Given the description of an element on the screen output the (x, y) to click on. 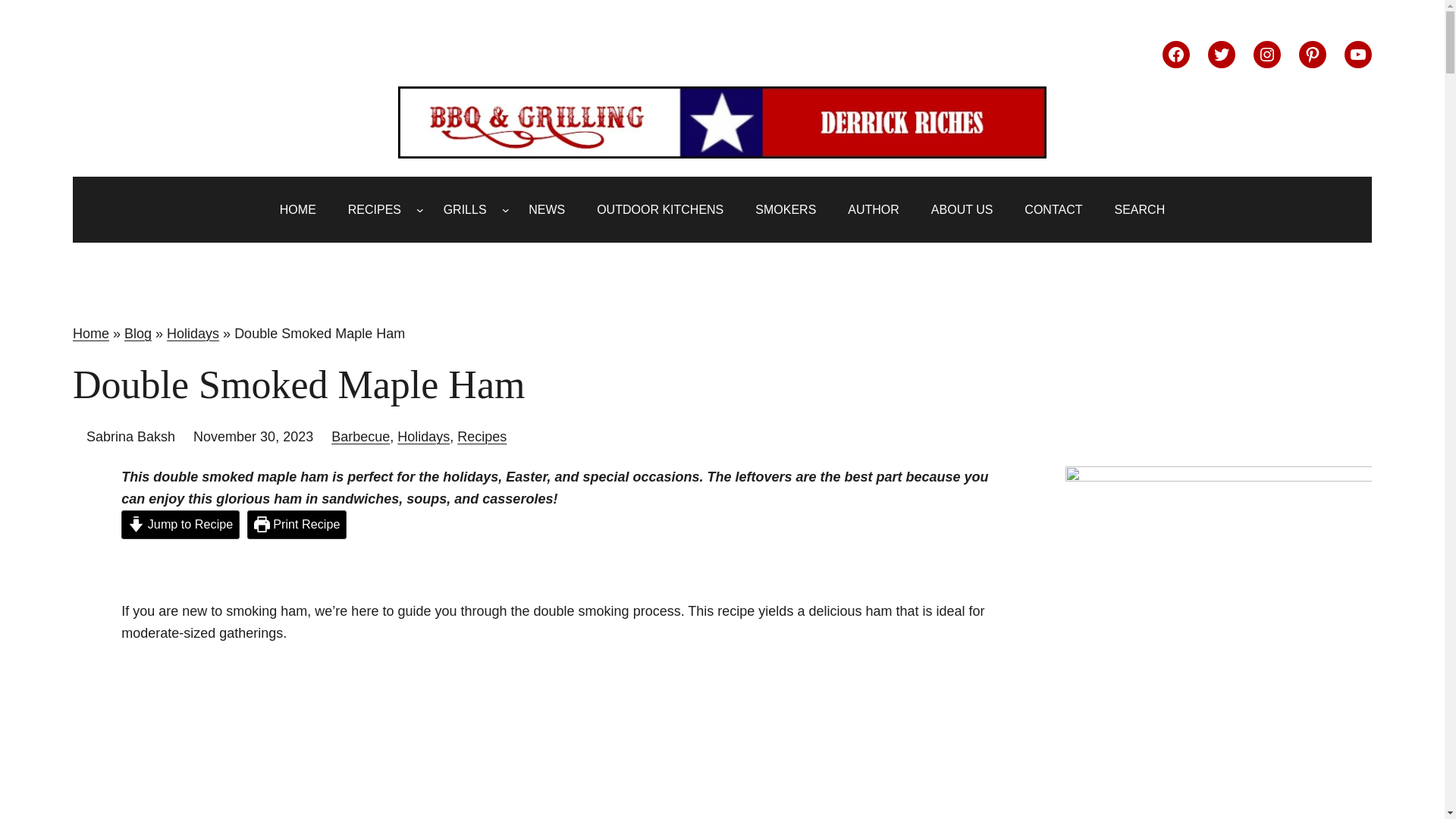
Holidays (193, 333)
Barbecue (360, 436)
GRILLS (464, 210)
SEARCH (1139, 210)
CONTACT (1052, 210)
RECIPES (374, 210)
NEWS (546, 210)
SMOKERS (785, 210)
OUTDOOR KITCHENS (660, 210)
ABOUT US (962, 210)
AUTHOR (873, 210)
Instagram (1267, 53)
YouTube (1357, 53)
Twitter (1221, 53)
Blog (137, 333)
